Given the description of an element on the screen output the (x, y) to click on. 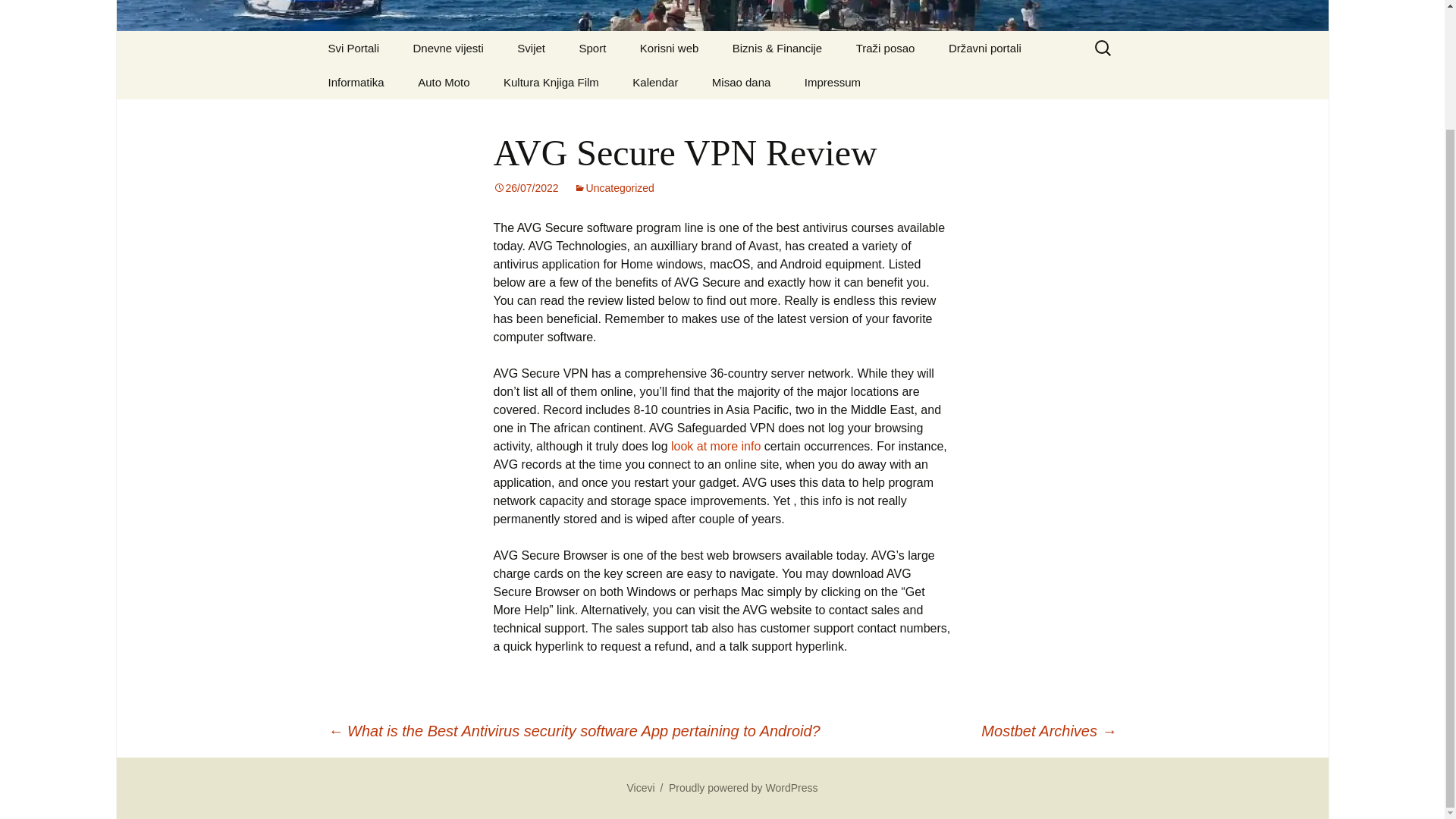
Impressum (832, 82)
Permalink to AVG Secure VPN Review (525, 187)
Korisni web (669, 48)
Svi Portali (353, 48)
Dnevne vijesti (447, 48)
Informatika (355, 82)
Vicevi (722, 15)
Misao dana (639, 787)
Svijet (741, 82)
Sport (531, 48)
Uncategorized (592, 48)
Kalendar (613, 187)
Auto Moto (655, 82)
